Given the description of an element on the screen output the (x, y) to click on. 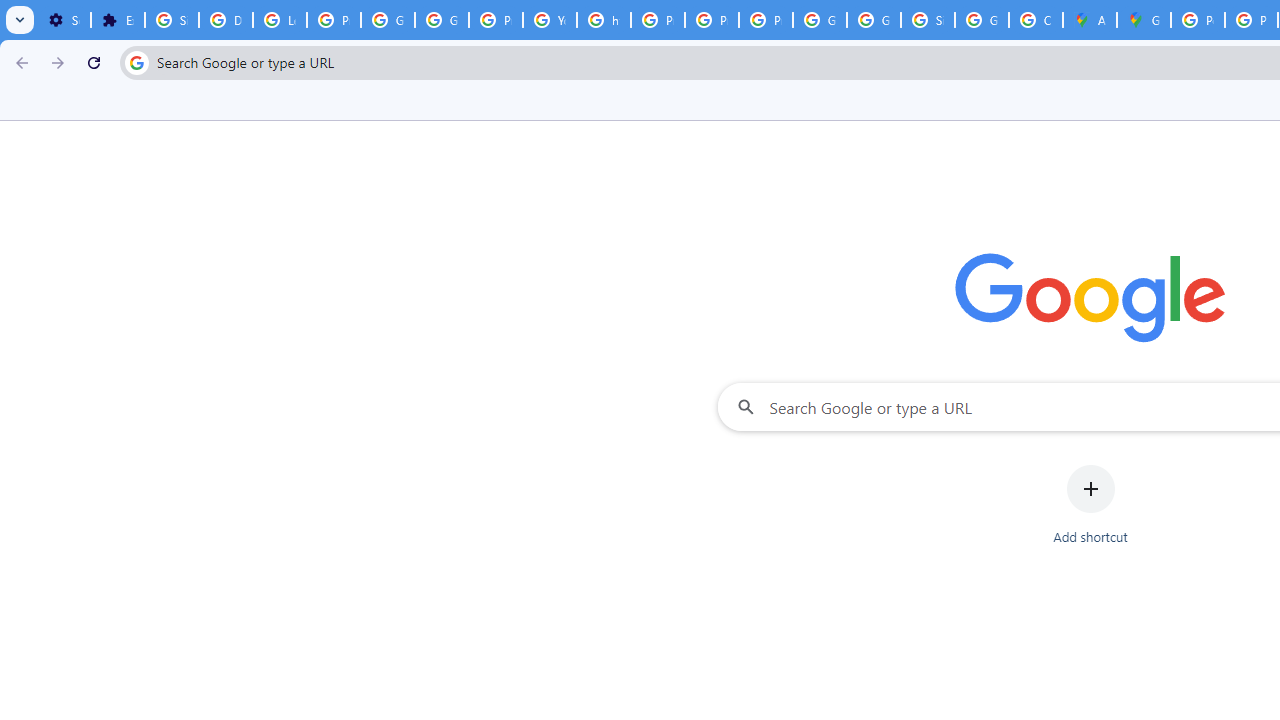
Create your Google Account (1035, 20)
Settings - On startup (63, 20)
Google Account Help (387, 20)
Google Maps (1144, 20)
